Given the description of an element on the screen output the (x, y) to click on. 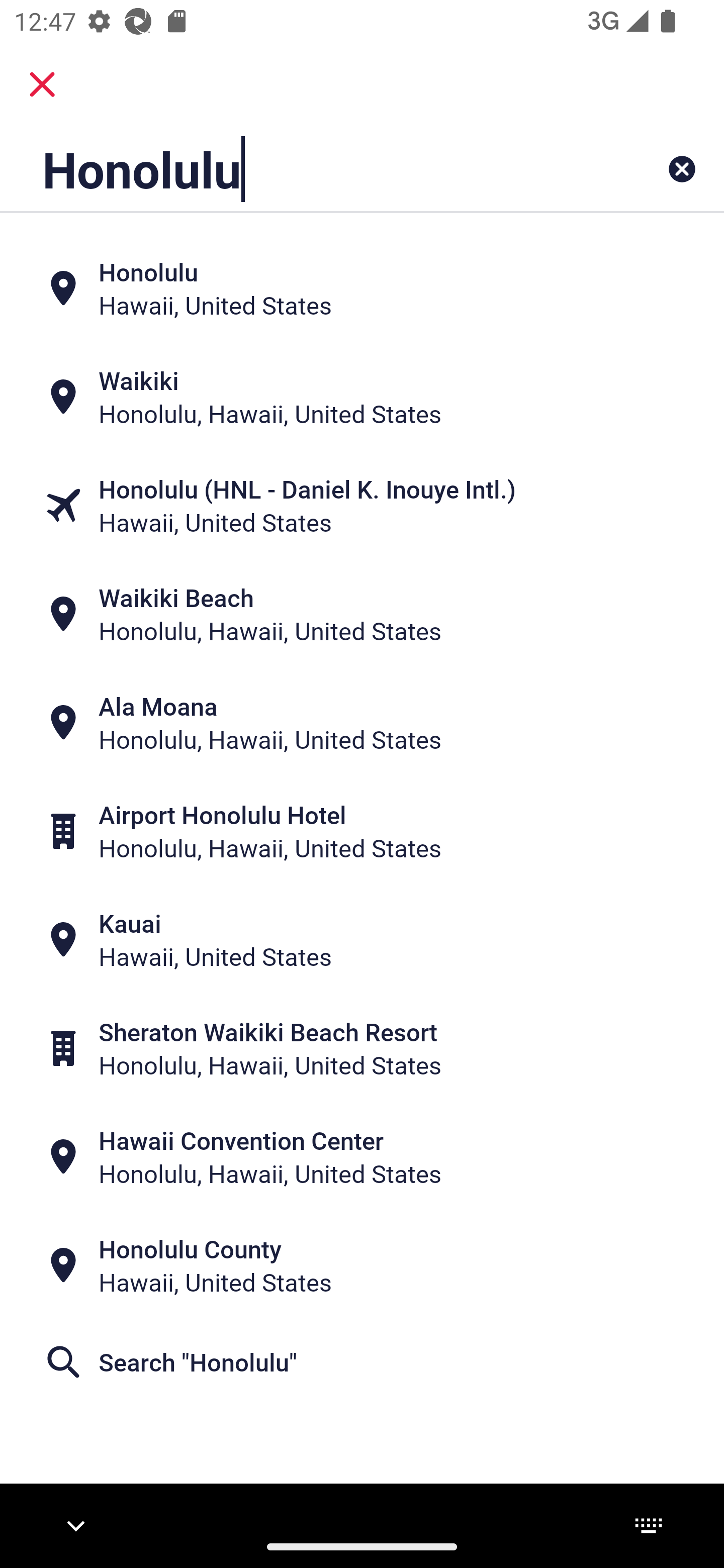
close. (42, 84)
Clear (681, 169)
Honolulu (298, 169)
Honolulu Hawaii, United States (362, 288)
Waikiki Honolulu, Hawaii, United States (362, 397)
Waikiki Beach Honolulu, Hawaii, United States (362, 613)
Ala Moana Honolulu, Hawaii, United States (362, 722)
Kauai Hawaii, United States (362, 939)
Honolulu County Hawaii, United States (362, 1265)
Search "Honolulu" (362, 1362)
